Given the description of an element on the screen output the (x, y) to click on. 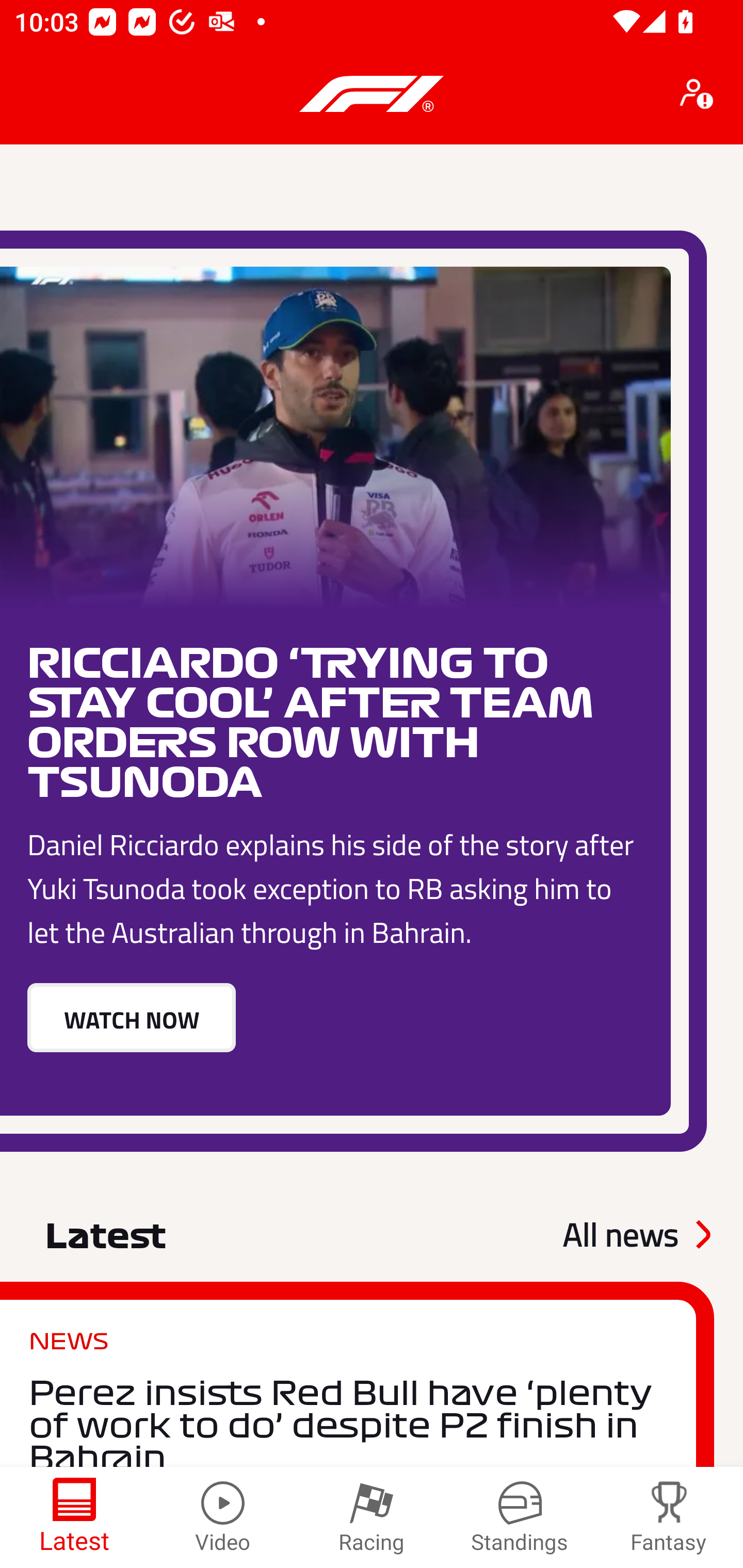
WATCH NOW (131, 1017)
All news See all (635, 1233)
Video (222, 1517)
Racing (371, 1517)
Standings (519, 1517)
Fantasy (668, 1517)
